Given the description of an element on the screen output the (x, y) to click on. 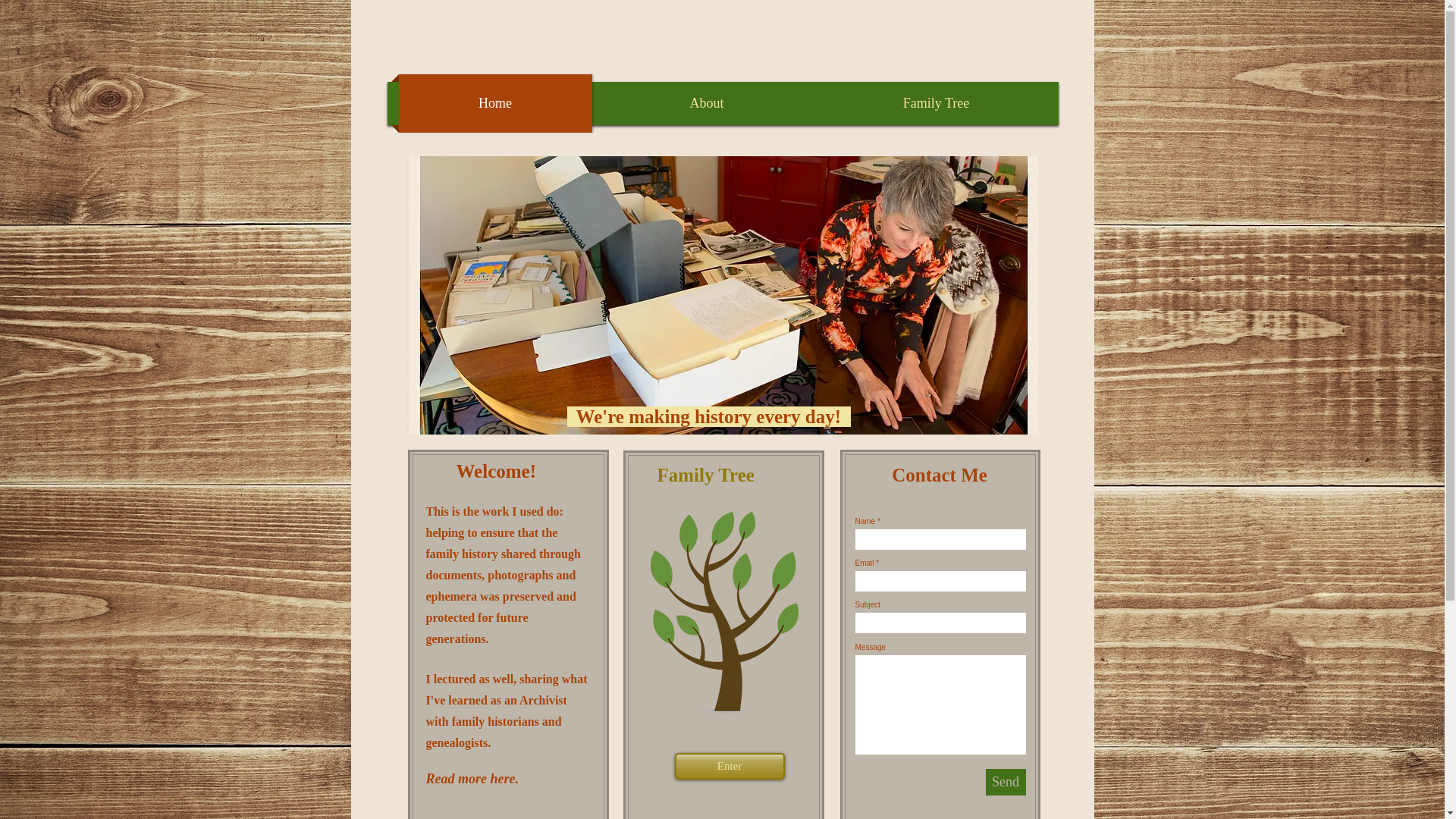
Send (1005, 782)
Family Tree (935, 103)
Home (495, 103)
here (502, 778)
About (707, 103)
Enter (729, 765)
